Given the description of an element on the screen output the (x, y) to click on. 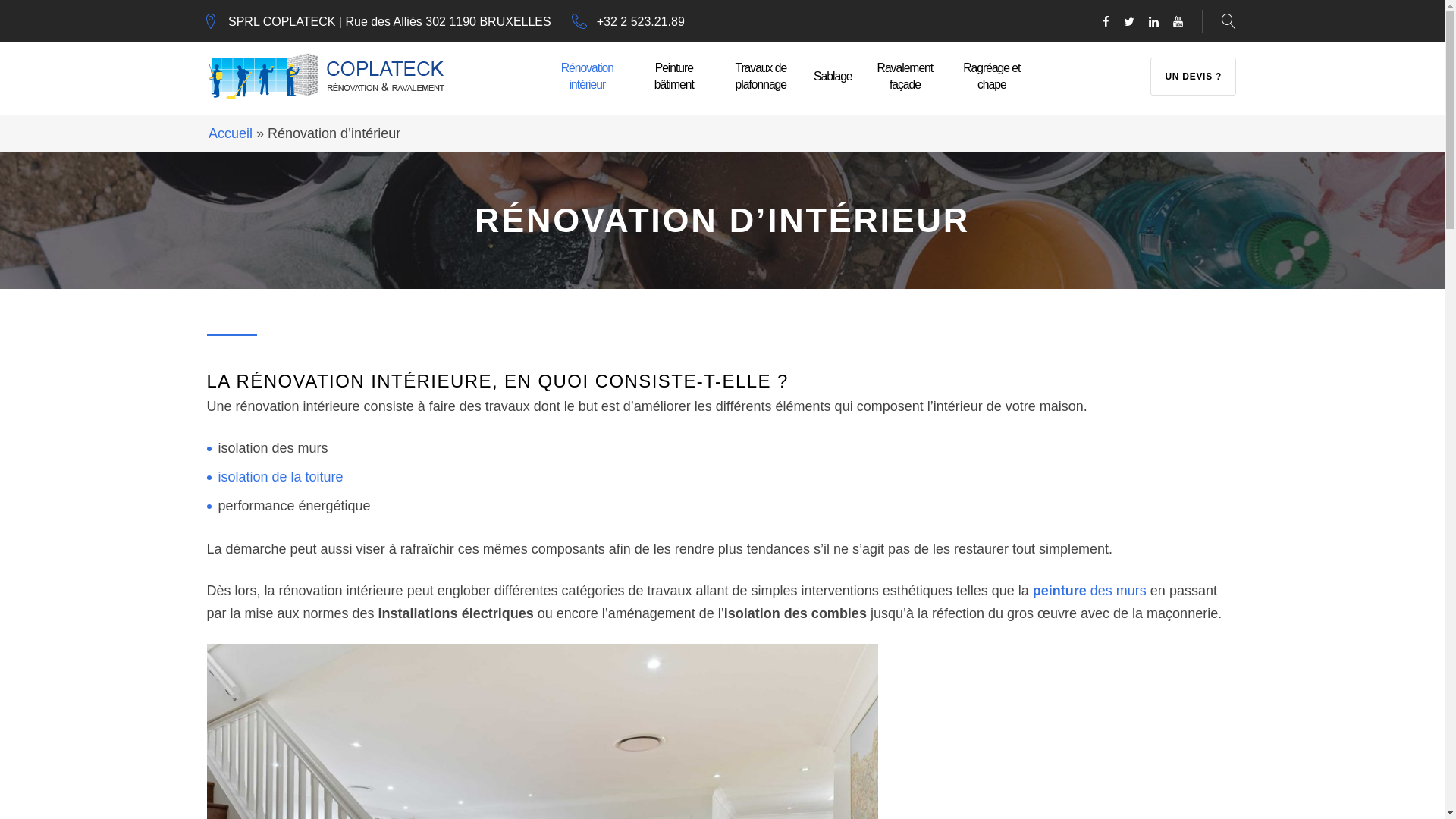
UN DEVIS ? Element type: text (1193, 76)
Twitter Element type: text (1128, 22)
peinture des murs Element type: text (1089, 590)
+32 2 523.21.89 Element type: text (640, 21)
Facebook Element type: text (1105, 22)
Travaux de plafonnage Element type: text (760, 76)
Sablage Element type: text (832, 76)
isolation de la toiture Element type: text (280, 476)
Linkedin Element type: text (1153, 22)
Accueil Element type: text (230, 133)
YouTube Element type: text (1178, 22)
